Given the description of an element on the screen output the (x, y) to click on. 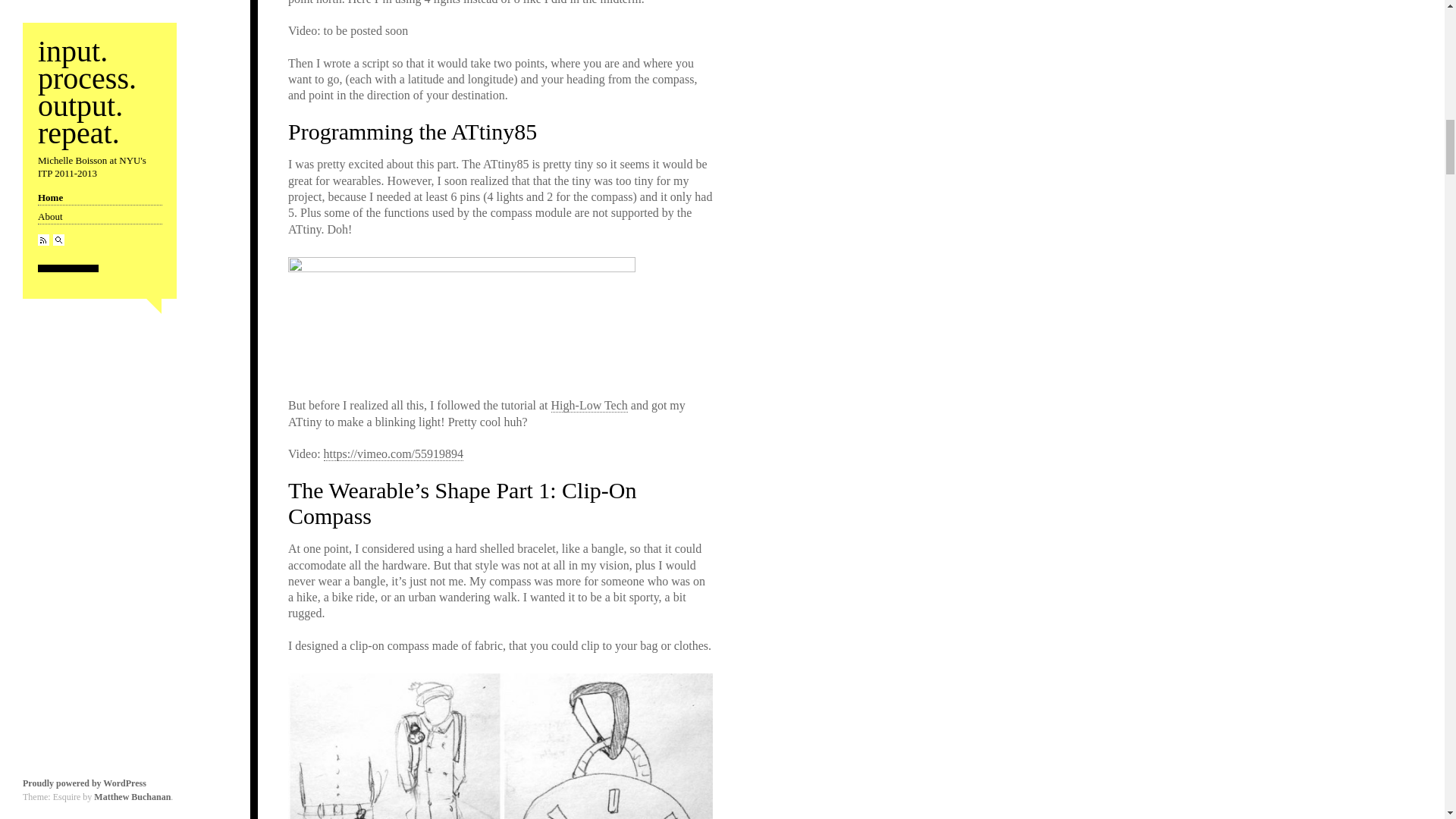
High-Low Tech (589, 405)
ATtiny85 (461, 319)
compass-look (500, 746)
